Given the description of an element on the screen output the (x, y) to click on. 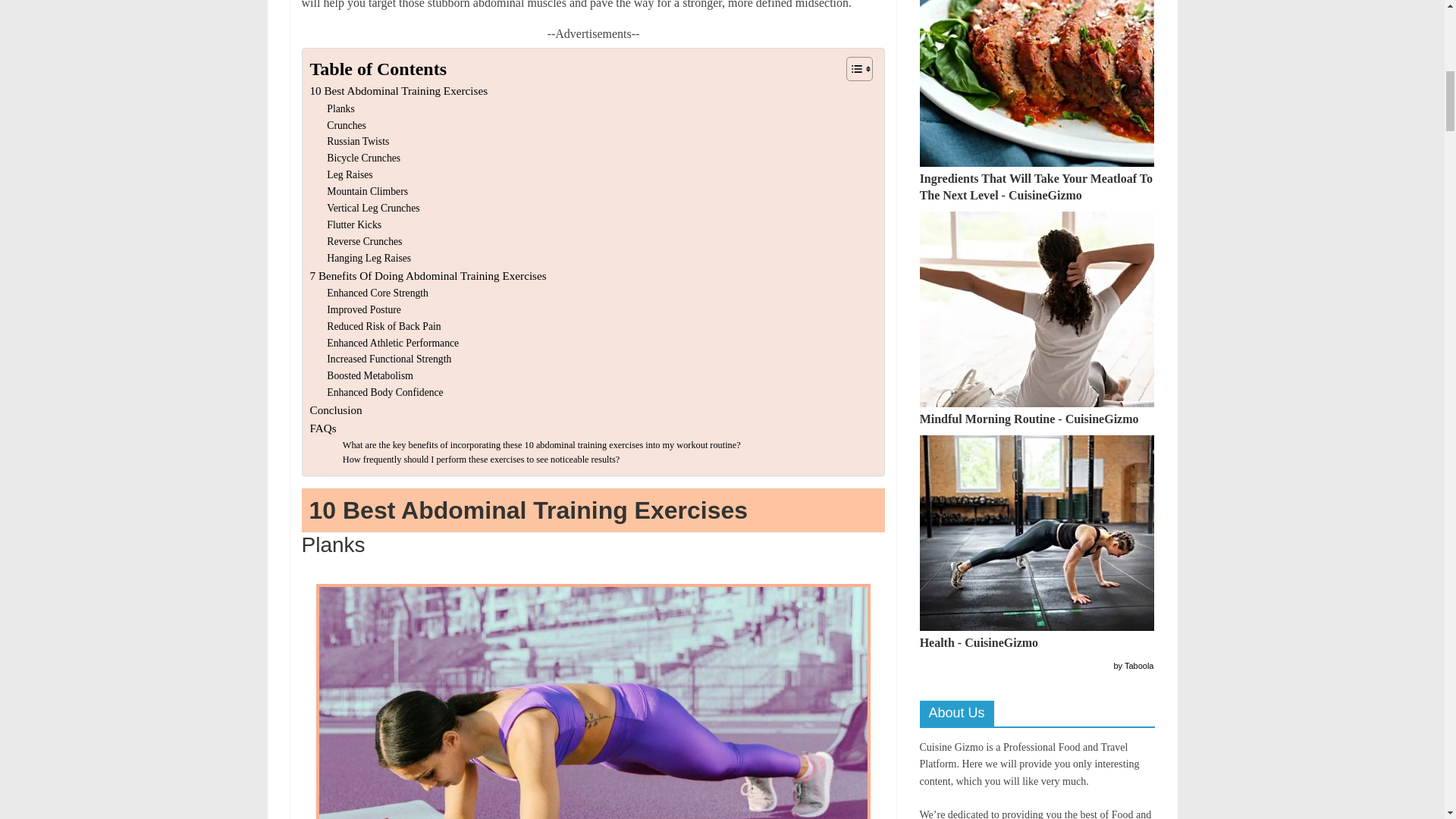
Planks (339, 108)
Leg Raises (349, 175)
Planks (339, 108)
Mountain Climbers (366, 191)
Crunches (346, 125)
Crunches (346, 125)
Bicycle Crunches (363, 158)
10 Best Abdominal Training Exercises (397, 90)
10 Best Abdominal Training Exercises (397, 90)
Hanging Leg Raises (368, 258)
Flutter Kicks (353, 225)
Russian Twists (357, 141)
Reverse Crunches (363, 241)
Vertical Leg Crunches (372, 208)
Russian Twists (357, 141)
